Given the description of an element on the screen output the (x, y) to click on. 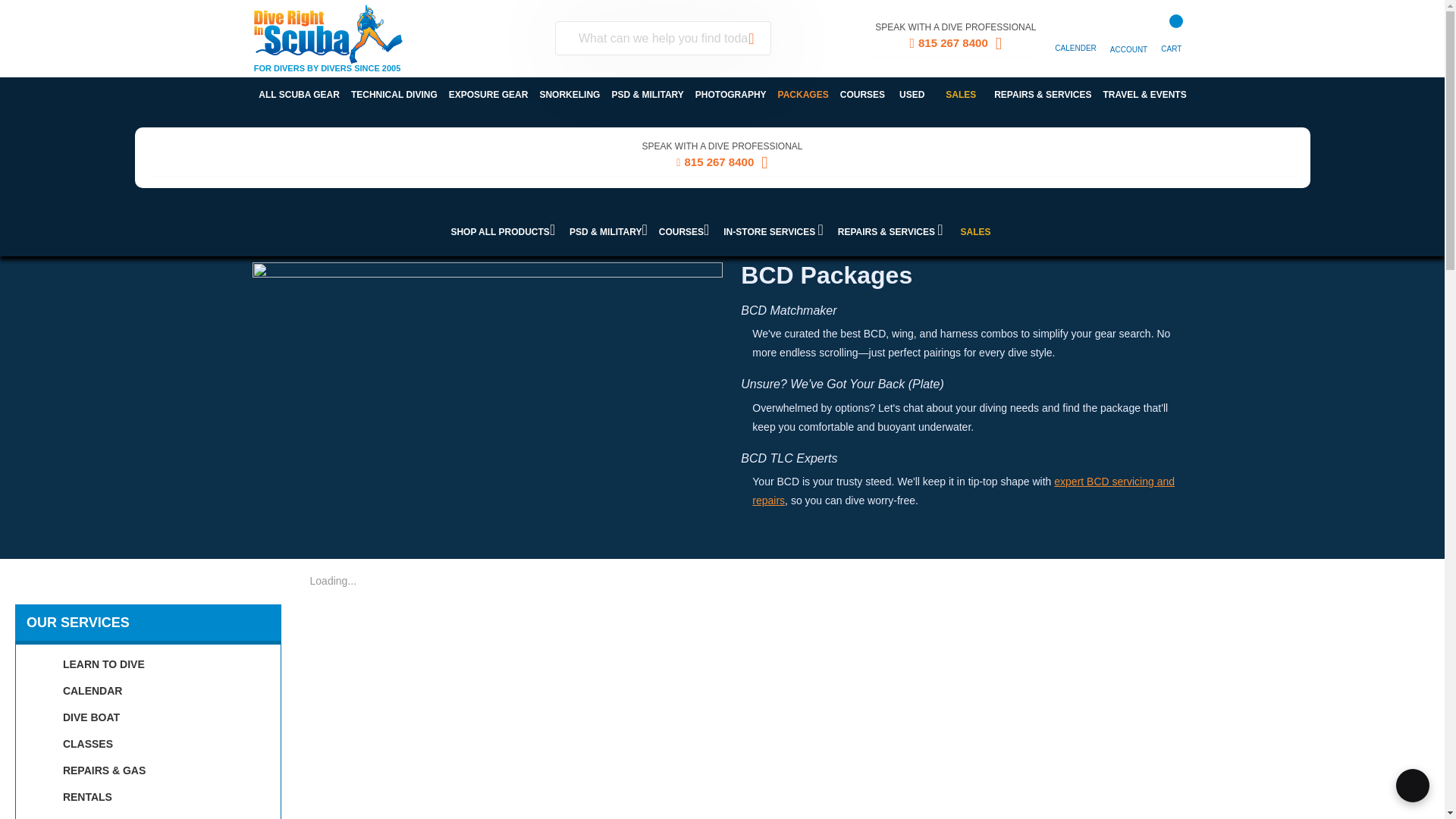
ALL SCUBA GEAR (298, 93)
Search (751, 38)
815 267 8400 (955, 46)
Search (751, 38)
Cart (1175, 31)
FOR DIVERS BY DIVERS SINCE 2005 (346, 38)
